Given the description of an element on the screen output the (x, y) to click on. 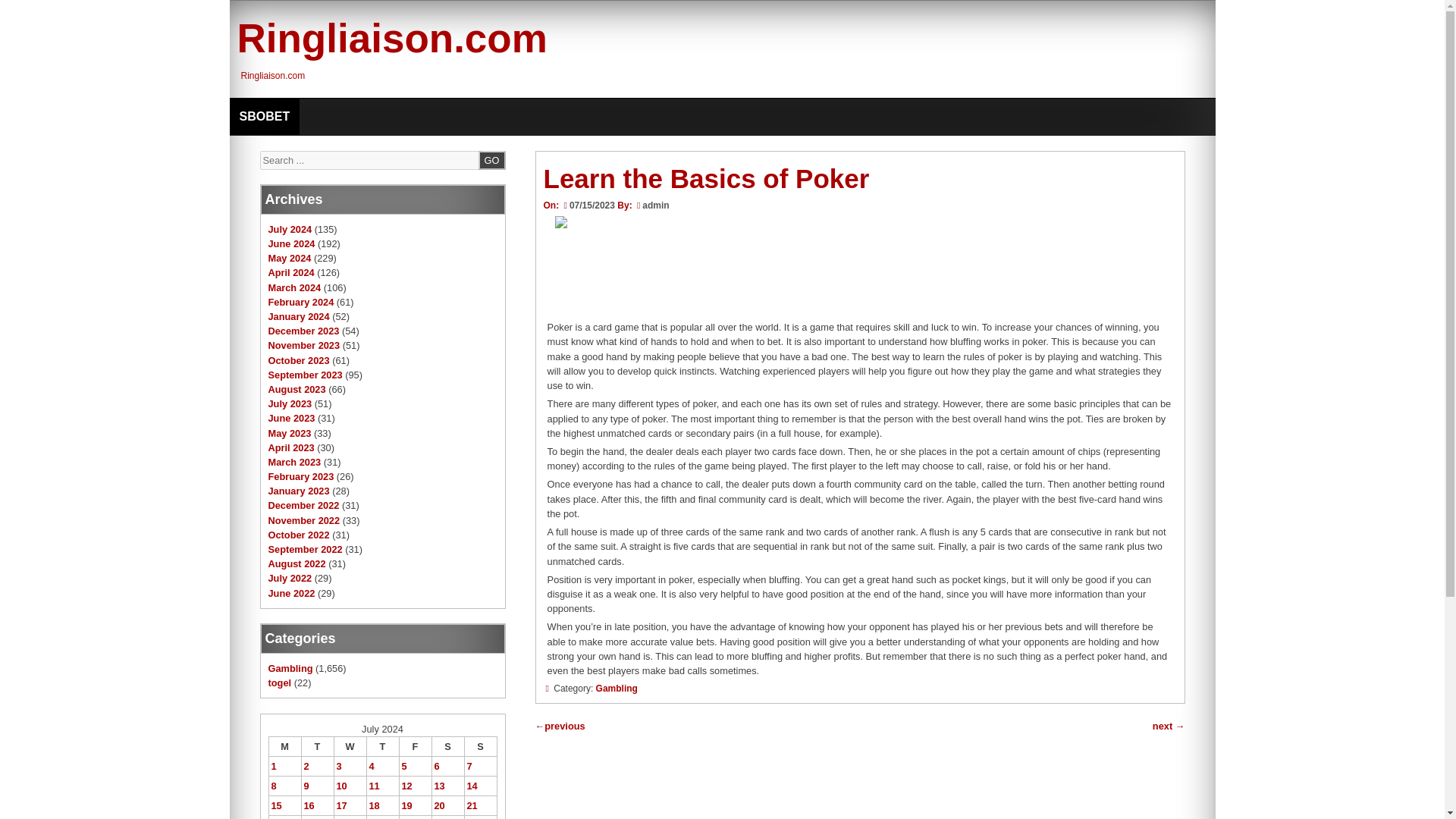
admin (655, 204)
July 2023 (290, 403)
May 2023 (289, 432)
Monday (284, 745)
June 2022 (291, 593)
January 2023 (298, 490)
August 2023 (296, 389)
June 2023 (291, 418)
GO (492, 158)
Sunday (480, 745)
February 2023 (300, 476)
SBOBET (263, 116)
December 2023 (303, 330)
May 2024 (289, 257)
September 2022 (304, 549)
